Given the description of an element on the screen output the (x, y) to click on. 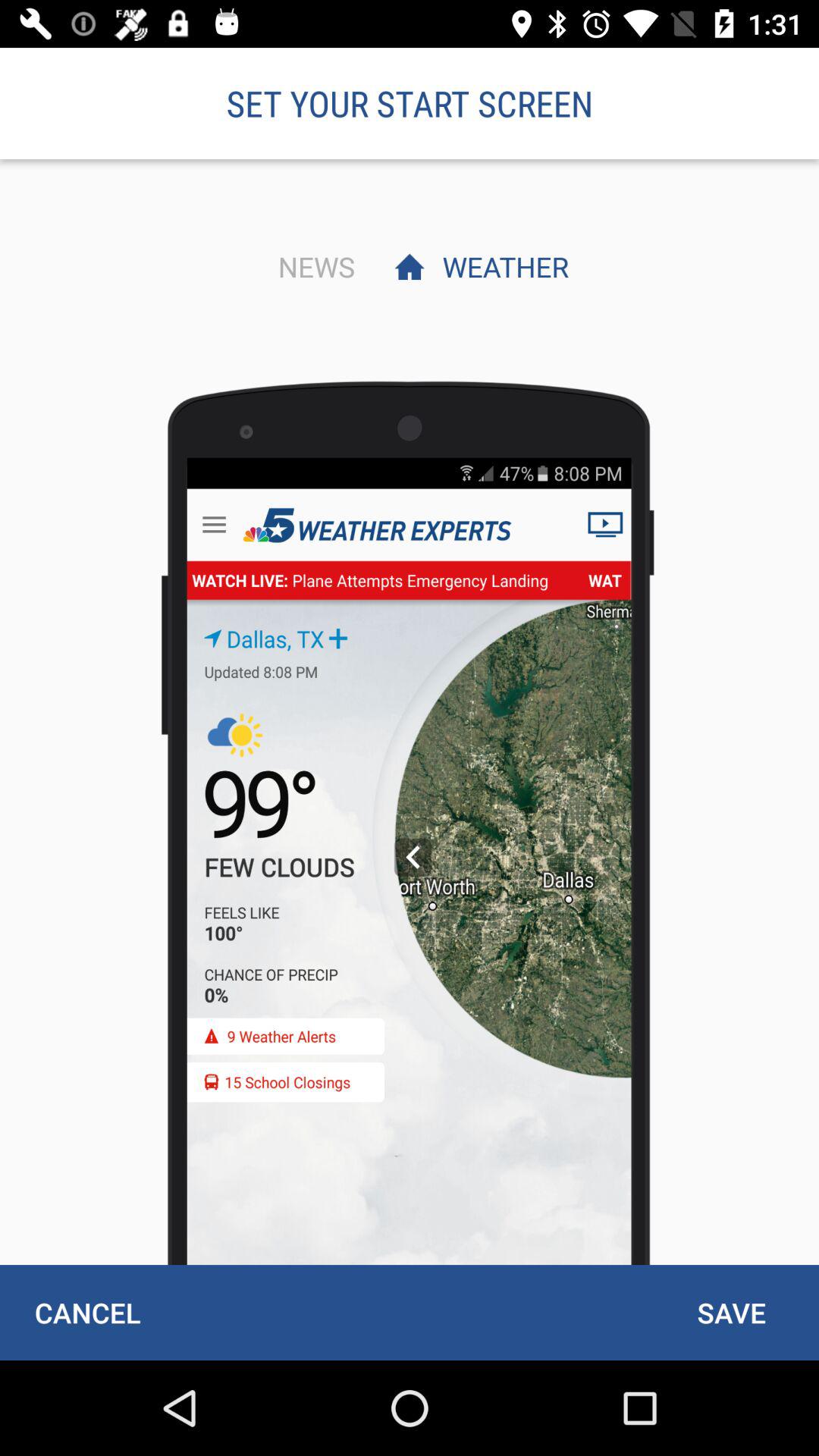
click icon above the news icon (409, 103)
